Given the description of an element on the screen output the (x, y) to click on. 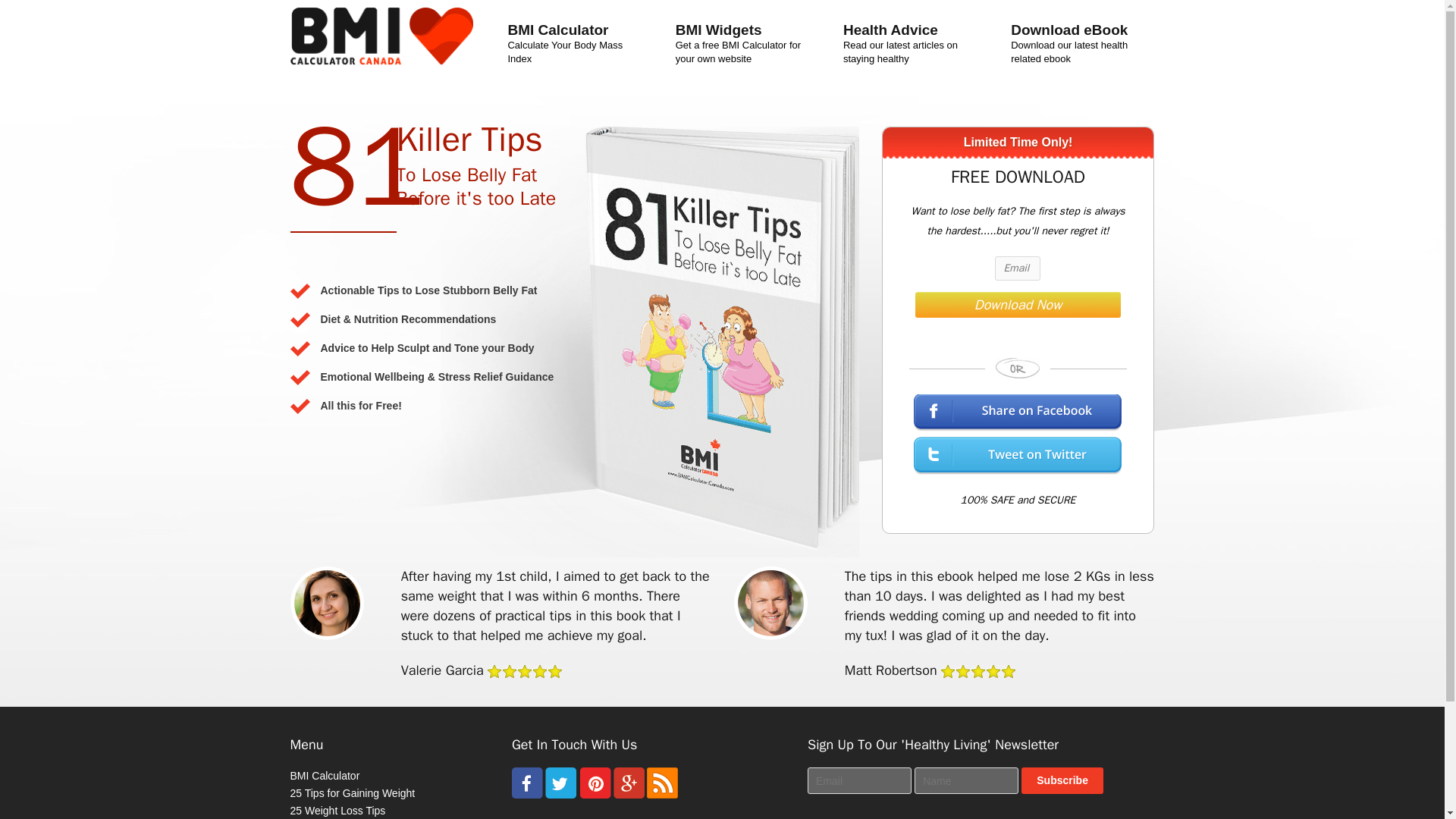
Download Now (1018, 304)
google (628, 794)
Health Advice (910, 29)
Download Now (1018, 304)
BMI Calculator (324, 775)
rss (662, 794)
Subscribe (1062, 780)
facbook (527, 794)
Download eBook (1078, 29)
Weight Loss Tips (337, 810)
Subscribe (1062, 780)
25 Tips for Gaining Weight (351, 793)
twitter (560, 794)
pinterest (595, 794)
BMI Calculator (574, 29)
